Given the description of an element on the screen output the (x, y) to click on. 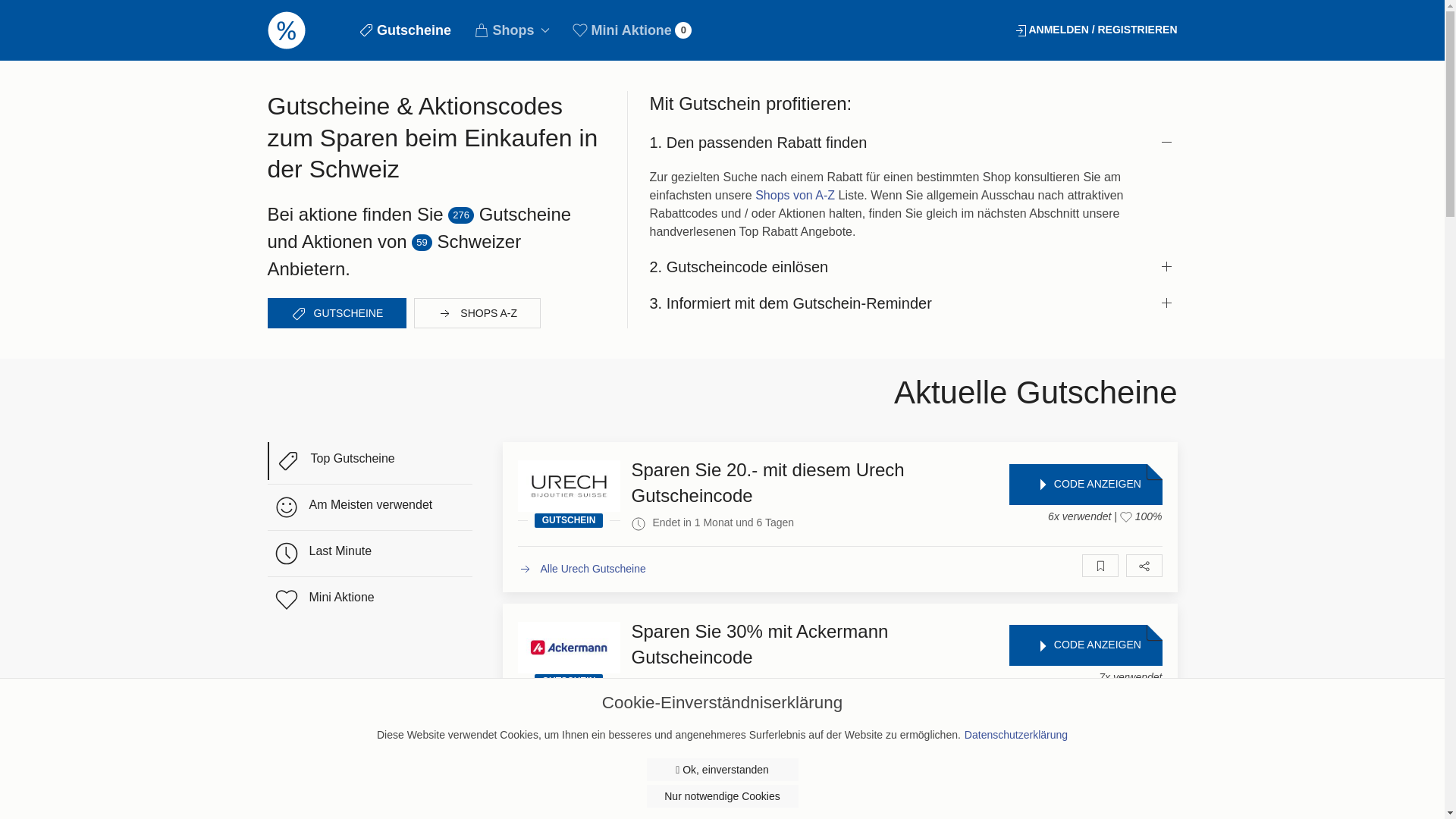
1. Den passenden Rabatt finden Element type: text (912, 142)
Alle Ackermann Gutscheine Element type: text (593, 729)
LESEZEICHEN Element type: text (1099, 565)
ANMELDEN / REGISTRIEREN Element type: text (1094, 29)
Mini Aktione Element type: text (368, 599)
Shops Element type: text (511, 30)
CODE ANZEIGEN Element type: text (1085, 484)
Alle Urech Gutscheine Element type: text (581, 569)
Gutscheine Element type: text (404, 30)
TEILEN Element type: text (1143, 565)
CODE ANZEIGEN Element type: text (1085, 644)
Am Meisten verwendet Element type: text (368, 507)
Nur notwendige Cookies Element type: text (721, 795)
3. Informiert mit dem Gutschein-Reminder Element type: text (912, 302)
TEILEN Element type: text (1143, 726)
Top Gutscheine Element type: text (368, 461)
Last Minute Element type: text (368, 553)
GUTSCHEINE Element type: text (336, 313)
LESEZEICHEN Element type: text (1099, 726)
SHOPS A-Z Element type: text (477, 313)
Mini Aktione
0 Element type: text (631, 30)
Shops von A-Z Element type: text (794, 194)
